Given the description of an element on the screen output the (x, y) to click on. 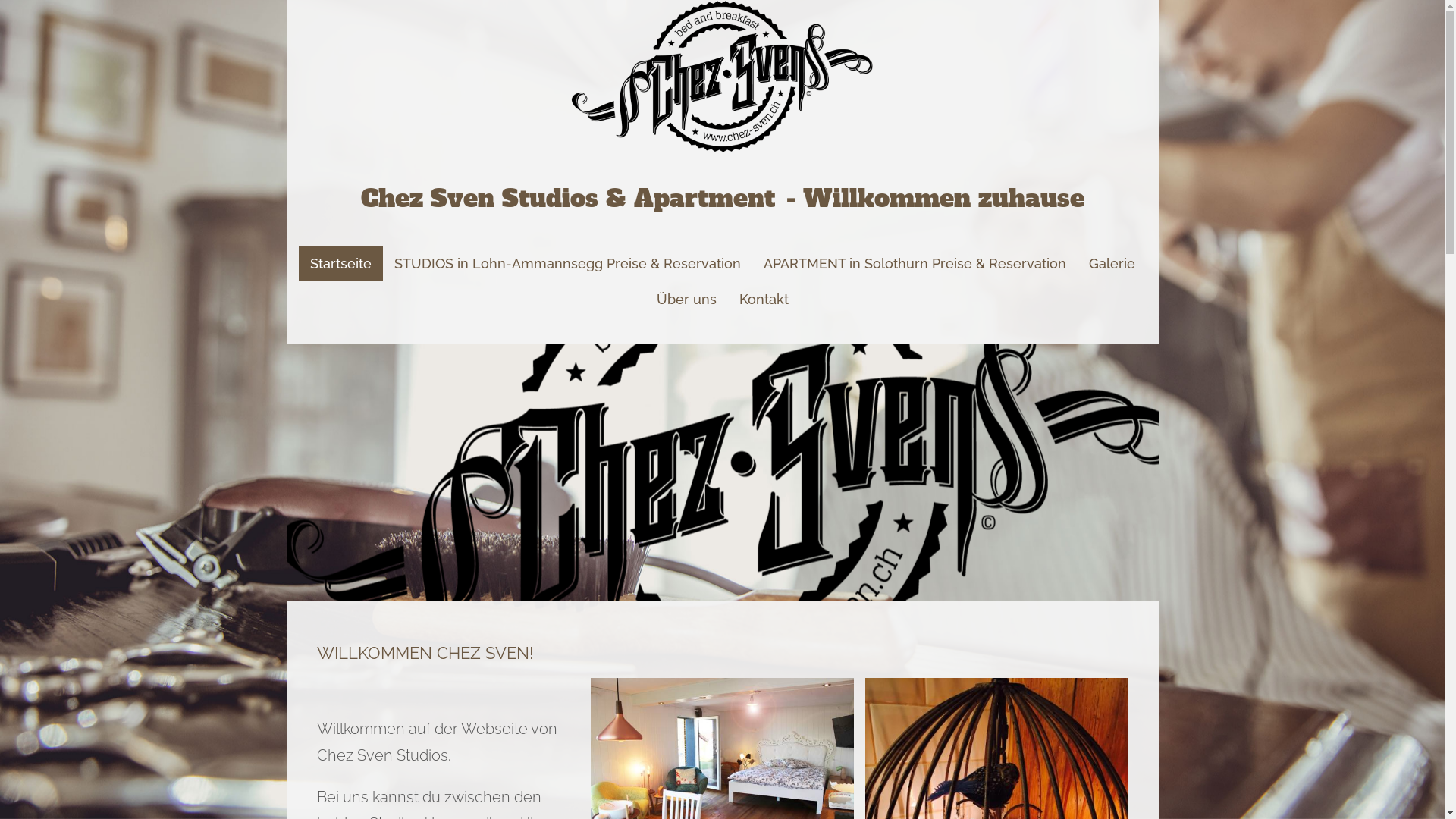
Startseite Element type: text (340, 263)
Galerie Element type: text (1110, 263)
Kontakt Element type: text (764, 298)
APARTMENT in Solothurn Preise & Reservation Element type: text (914, 263)
STUDIOS in Lohn-Ammannsegg Preise & Reservation Element type: text (566, 263)
